Given the description of an element on the screen output the (x, y) to click on. 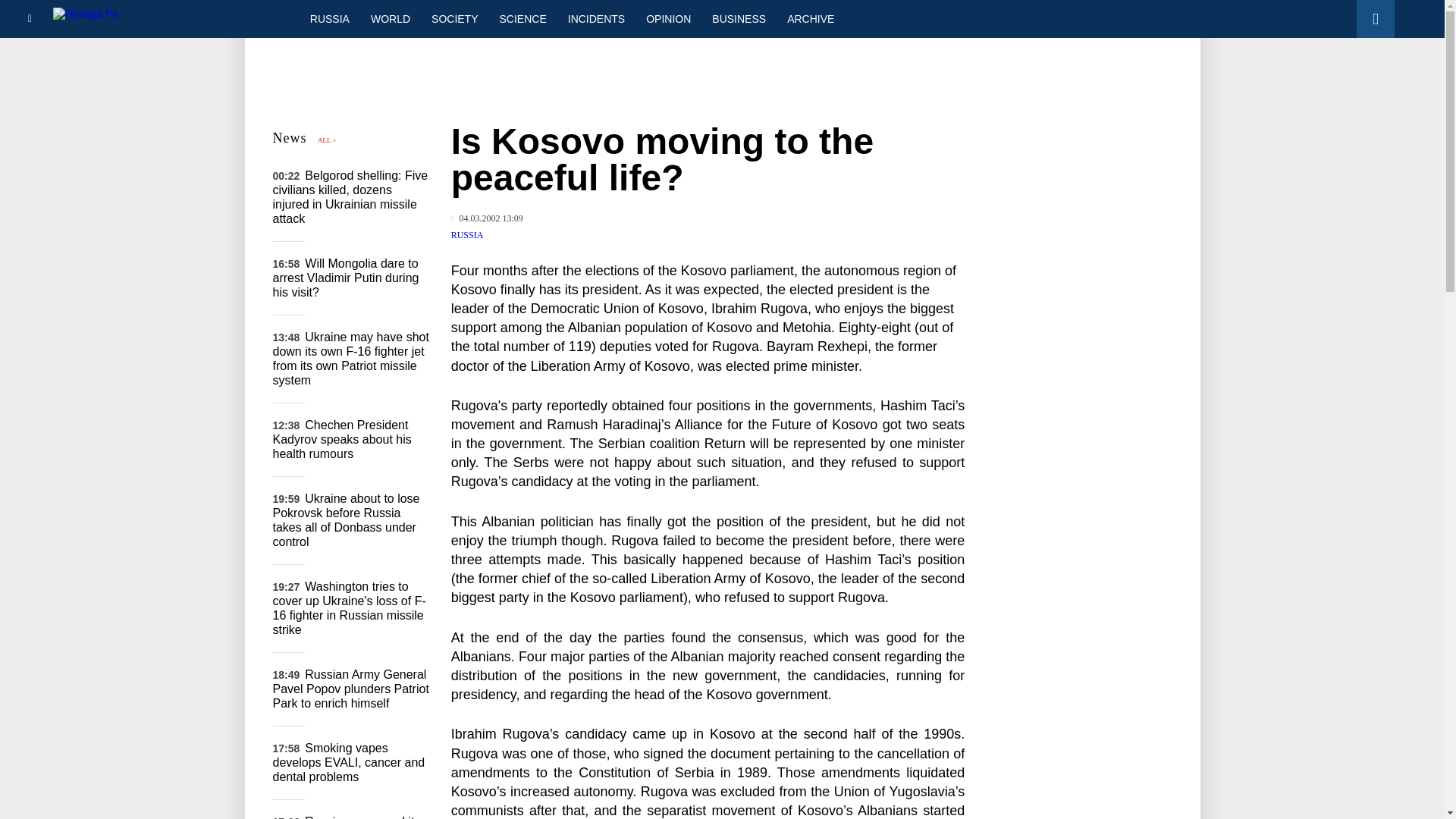
INCIDENTS (595, 18)
Smoking vapes develops EVALI, cancer and dental problems (349, 762)
SOCIETY (453, 18)
OPINION (667, 18)
BUSINESS (738, 18)
WORLD (389, 18)
